Given the description of an element on the screen output the (x, y) to click on. 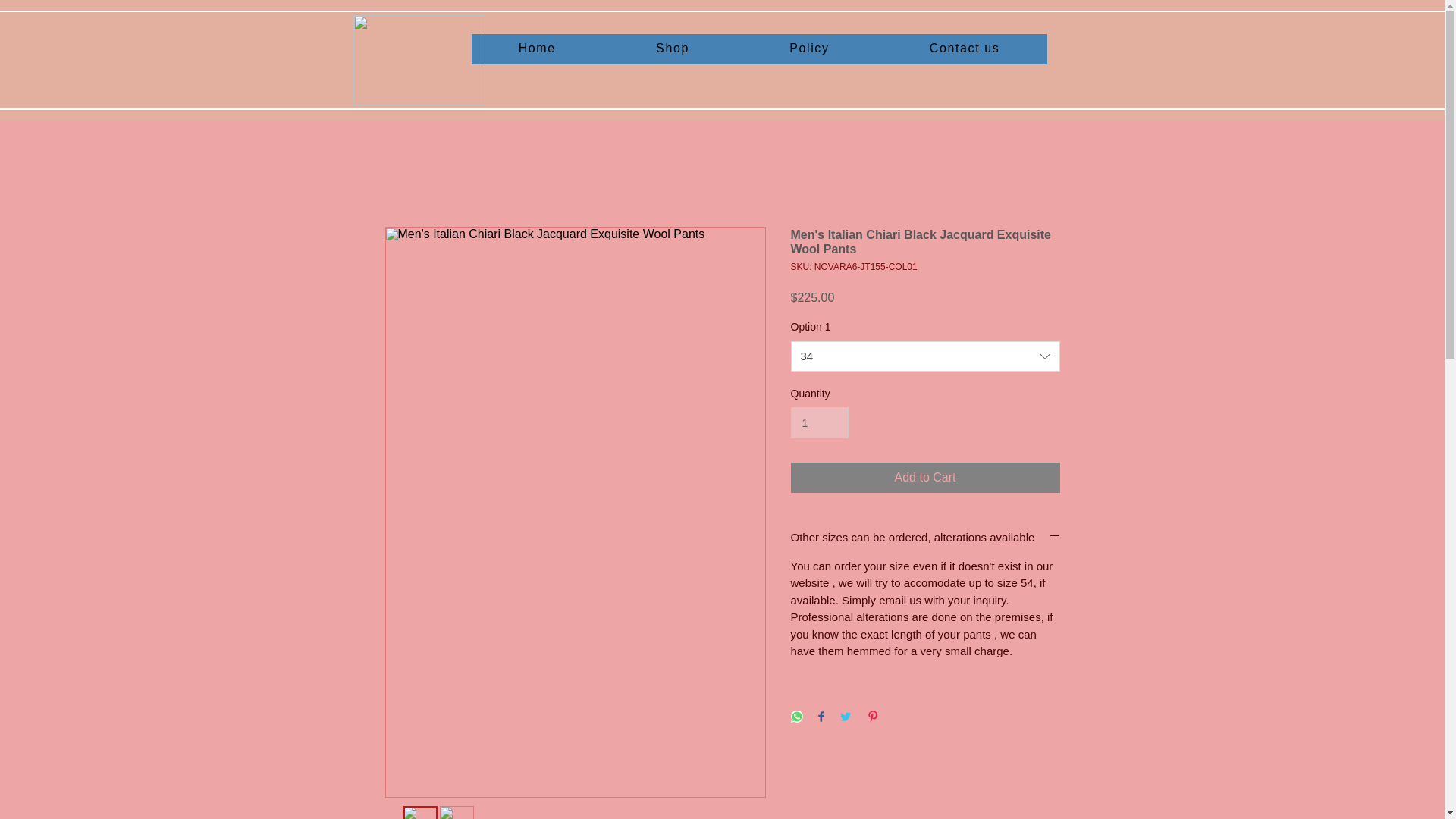
Home (536, 49)
Add to Cart (924, 477)
Other sizes can be ordered, alterations available (924, 537)
Policy (809, 49)
1 (818, 422)
Contact us (964, 49)
34 (924, 356)
Shop (672, 49)
